Given the description of an element on the screen output the (x, y) to click on. 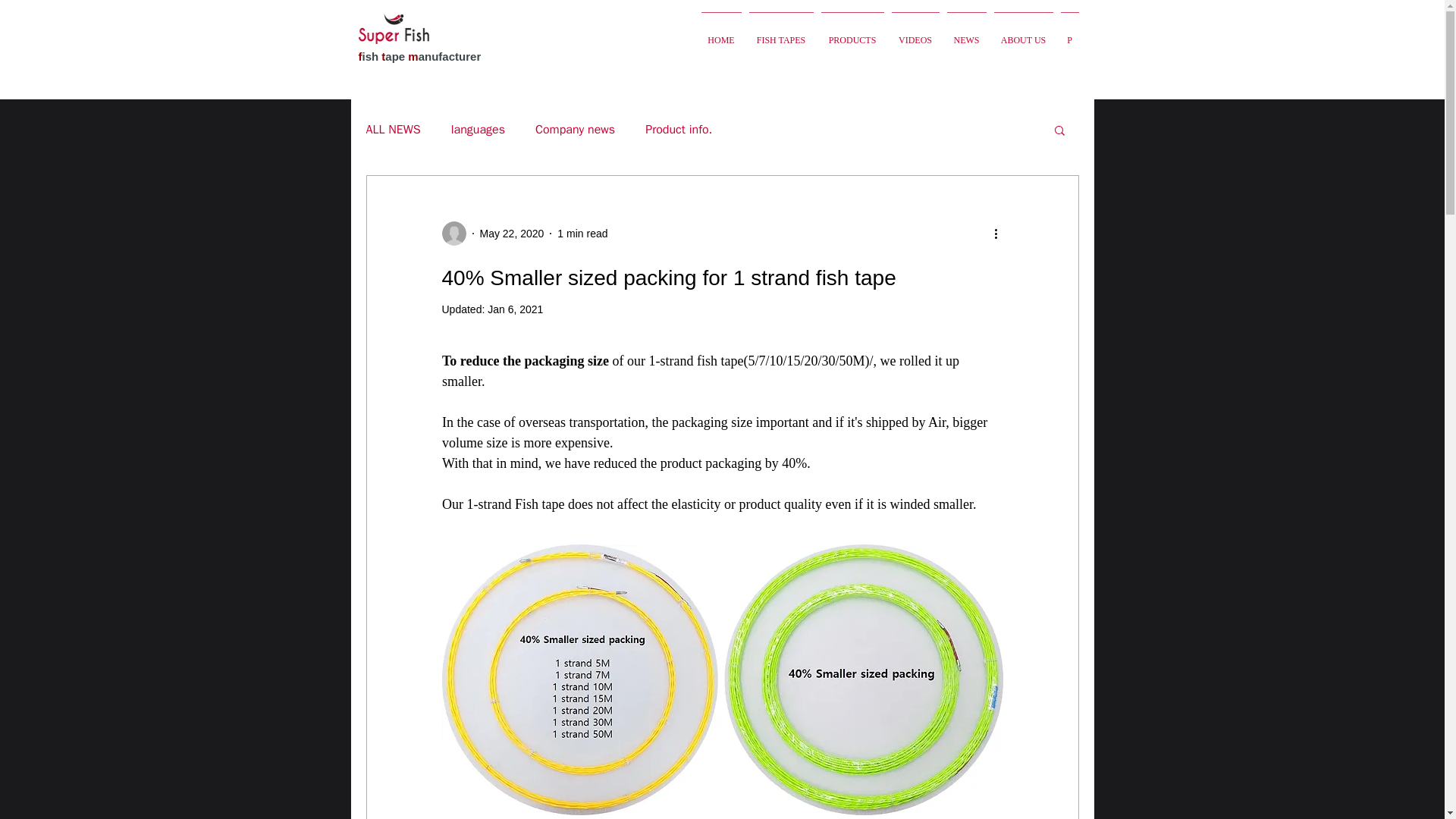
Jan 6, 2021 (515, 309)
VIDEOS (914, 33)
HOME (721, 33)
ABOUT US (1023, 33)
SF fish tape (393, 28)
NEWS (966, 33)
May 22, 2020 (511, 233)
1 min read (582, 233)
